Given the description of an element on the screen output the (x, y) to click on. 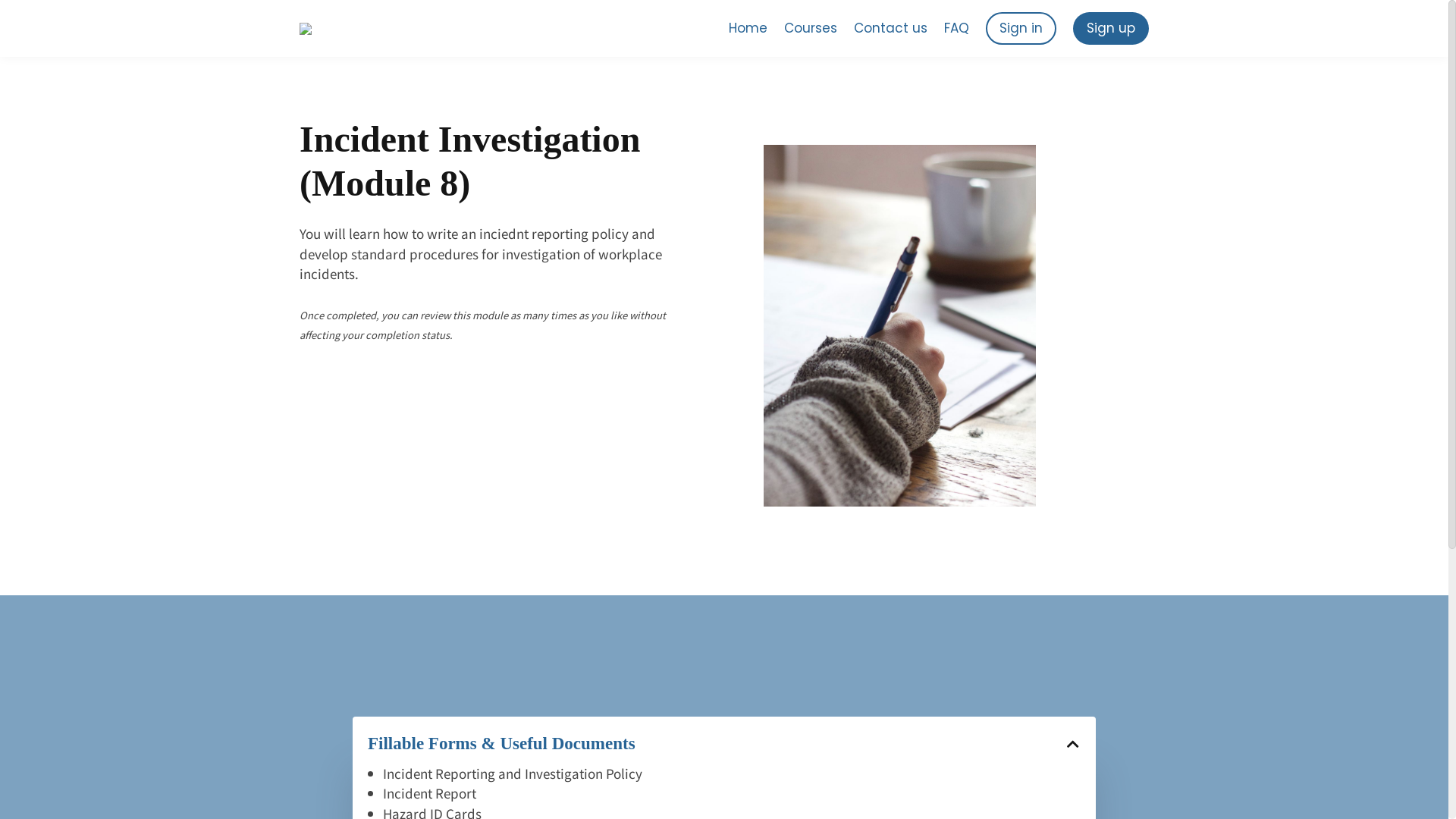
Contact us Element type: text (890, 27)
FAQ Element type: text (956, 27)
Sign up Element type: text (1110, 27)
Courses Element type: text (810, 27)
Sign in Element type: text (1020, 27)
Home Element type: text (747, 27)
